Given the description of an element on the screen output the (x, y) to click on. 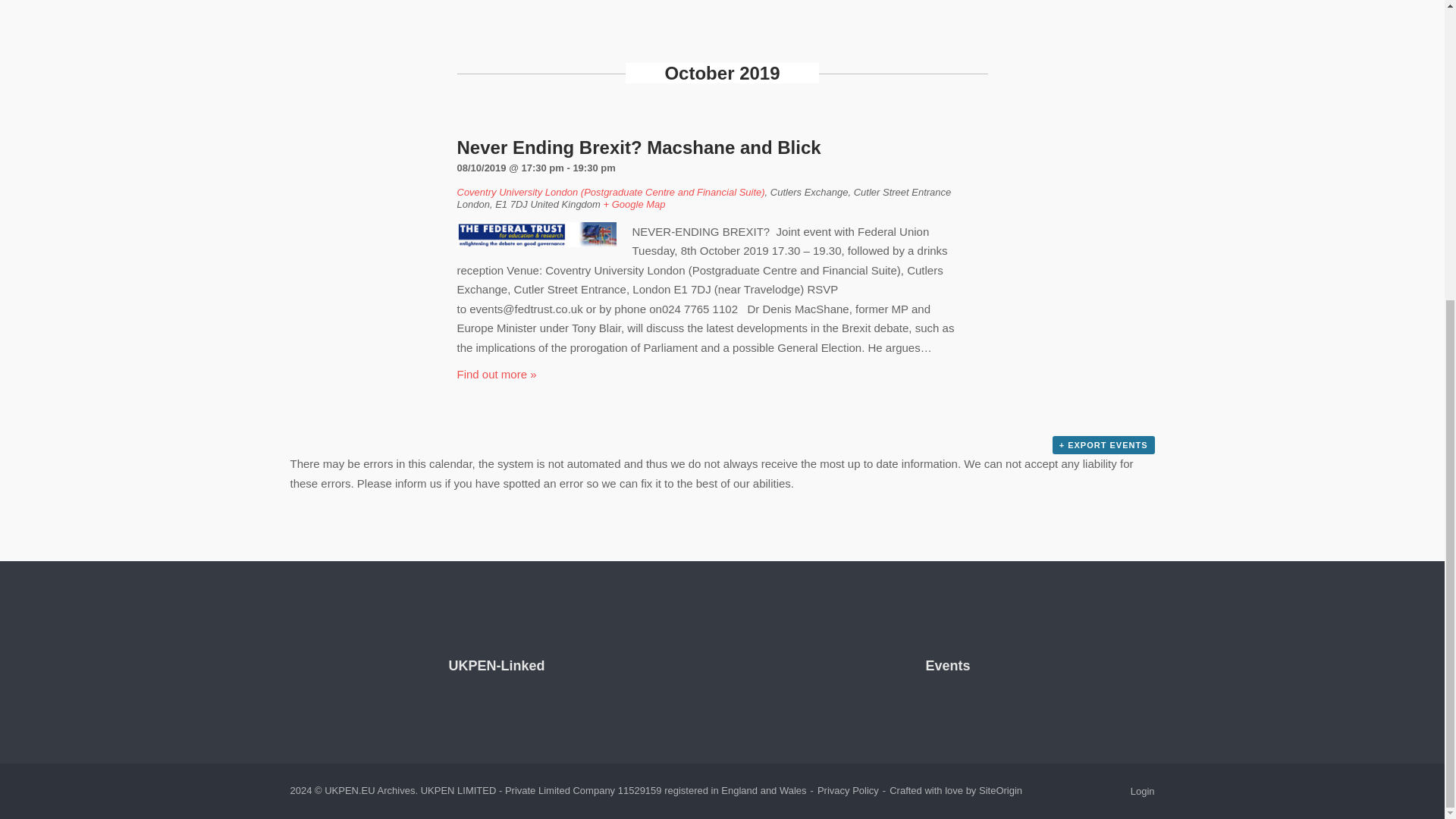
Never Ending Brexit? Macshane and Blick (639, 147)
SiteOrigin (1000, 790)
Privacy Policy (847, 790)
Login (1142, 790)
UKPEN-Linked (496, 665)
Click to view a Google Map (634, 204)
Events (946, 665)
Never Ending Brexit? Macshane and Blick (639, 147)
